Given the description of an element on the screen output the (x, y) to click on. 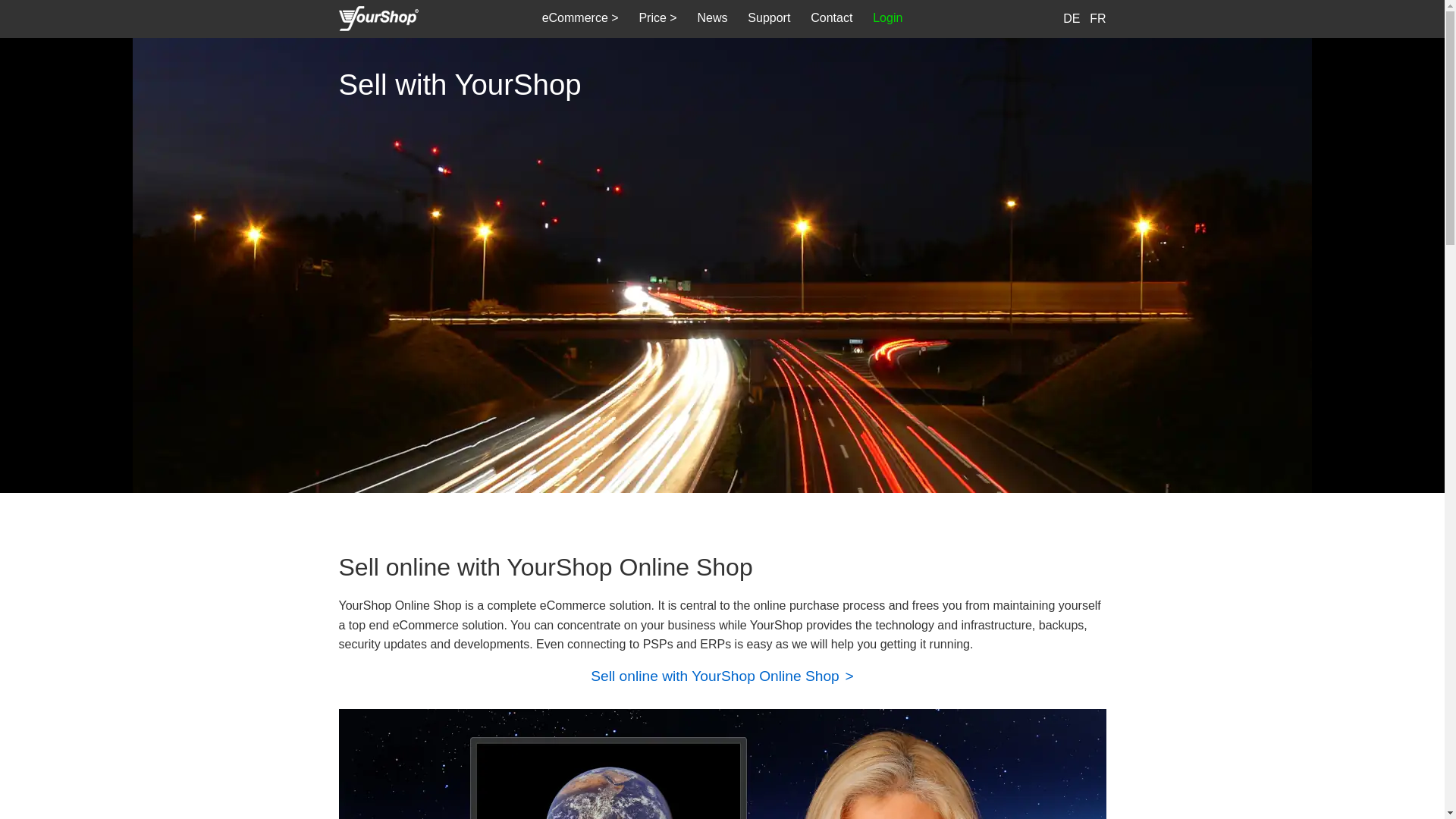
Support Element type: text (768, 17)
DE Element type: text (1071, 18)
Login Element type: text (887, 17)
Contact Element type: text (831, 17)
Sell online with YourShop Online Shop Element type: text (717, 676)
FR Element type: text (1097, 18)
YourShop Element type: hover (377, 20)
News Element type: text (711, 17)
